Given the description of an element on the screen output the (x, y) to click on. 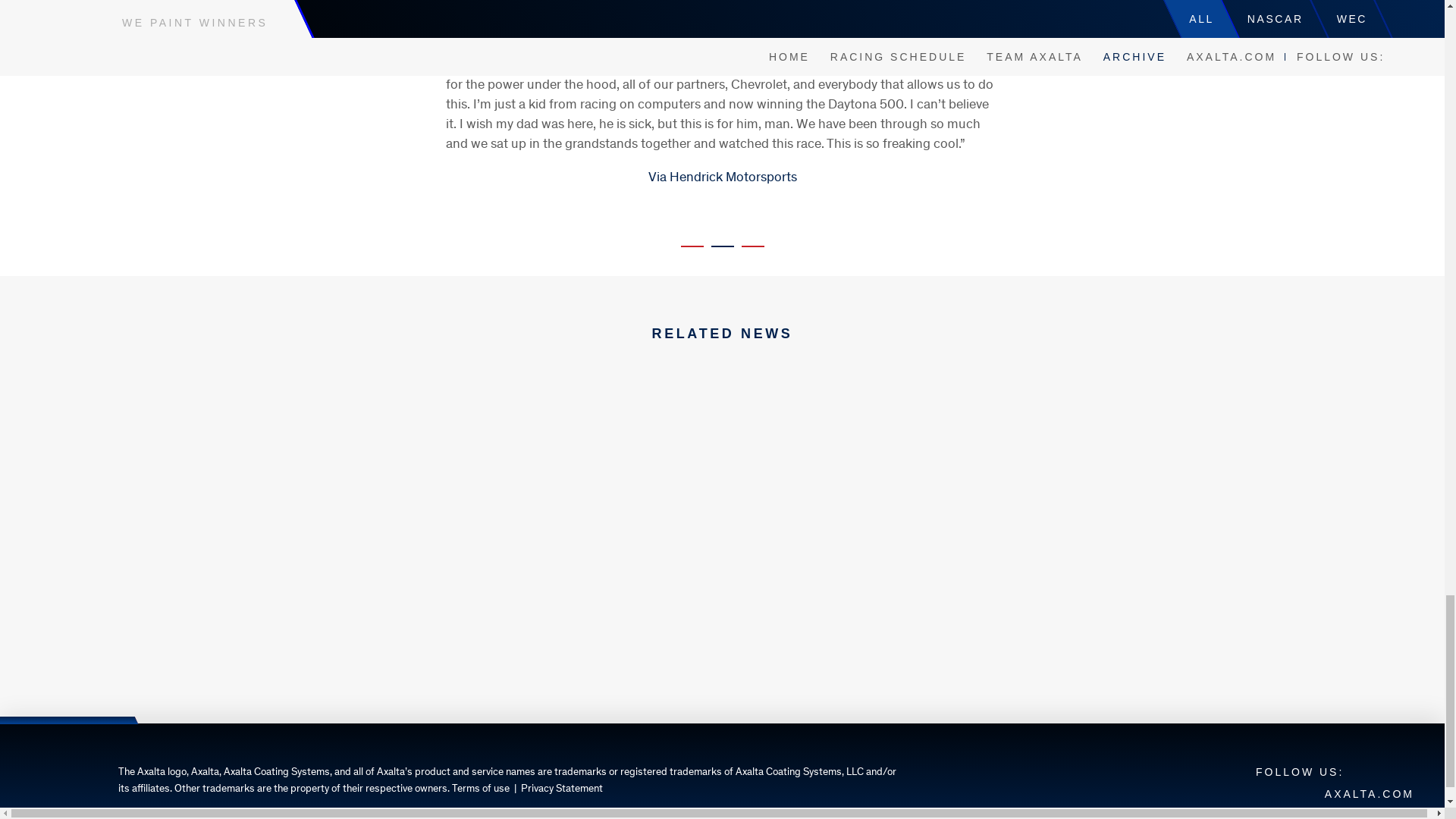
Privacy Statement (561, 788)
Via Hendrick Motorsports (721, 178)
Terms of use (480, 788)
AXALTA.COM (1368, 793)
